Given the description of an element on the screen output the (x, y) to click on. 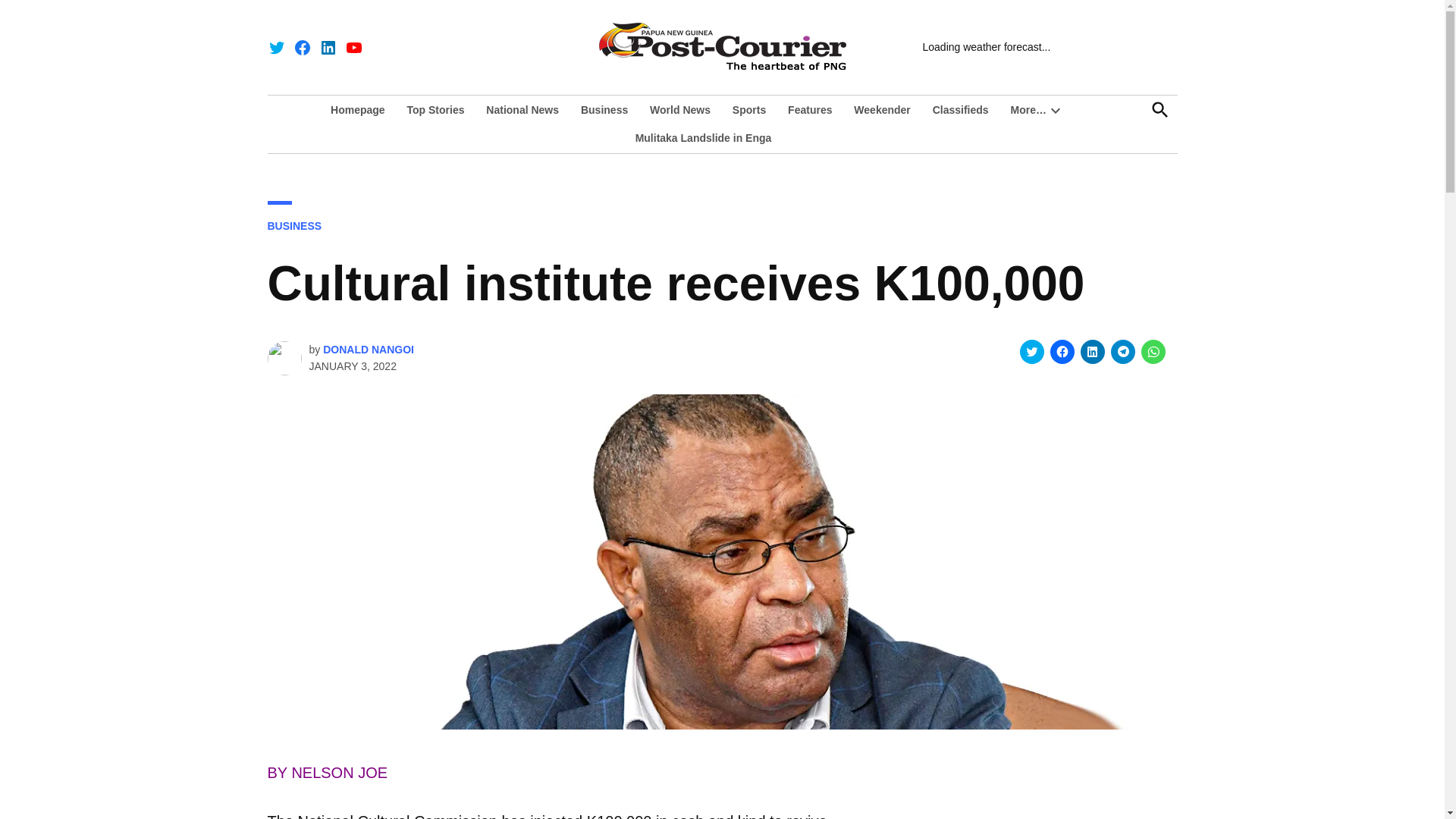
Click to share on LinkedIn (1091, 351)
Homepage (361, 109)
Facebook (301, 46)
Click to share on Telegram (1121, 351)
YouTube (352, 46)
LinkedIn (327, 46)
Top Stories (434, 109)
Post Courier (1025, 56)
Click to share on Twitter (1031, 351)
Click to share on WhatsApp (1152, 351)
Click to share on Facebook (1061, 351)
Twitter (275, 46)
